Given the description of an element on the screen output the (x, y) to click on. 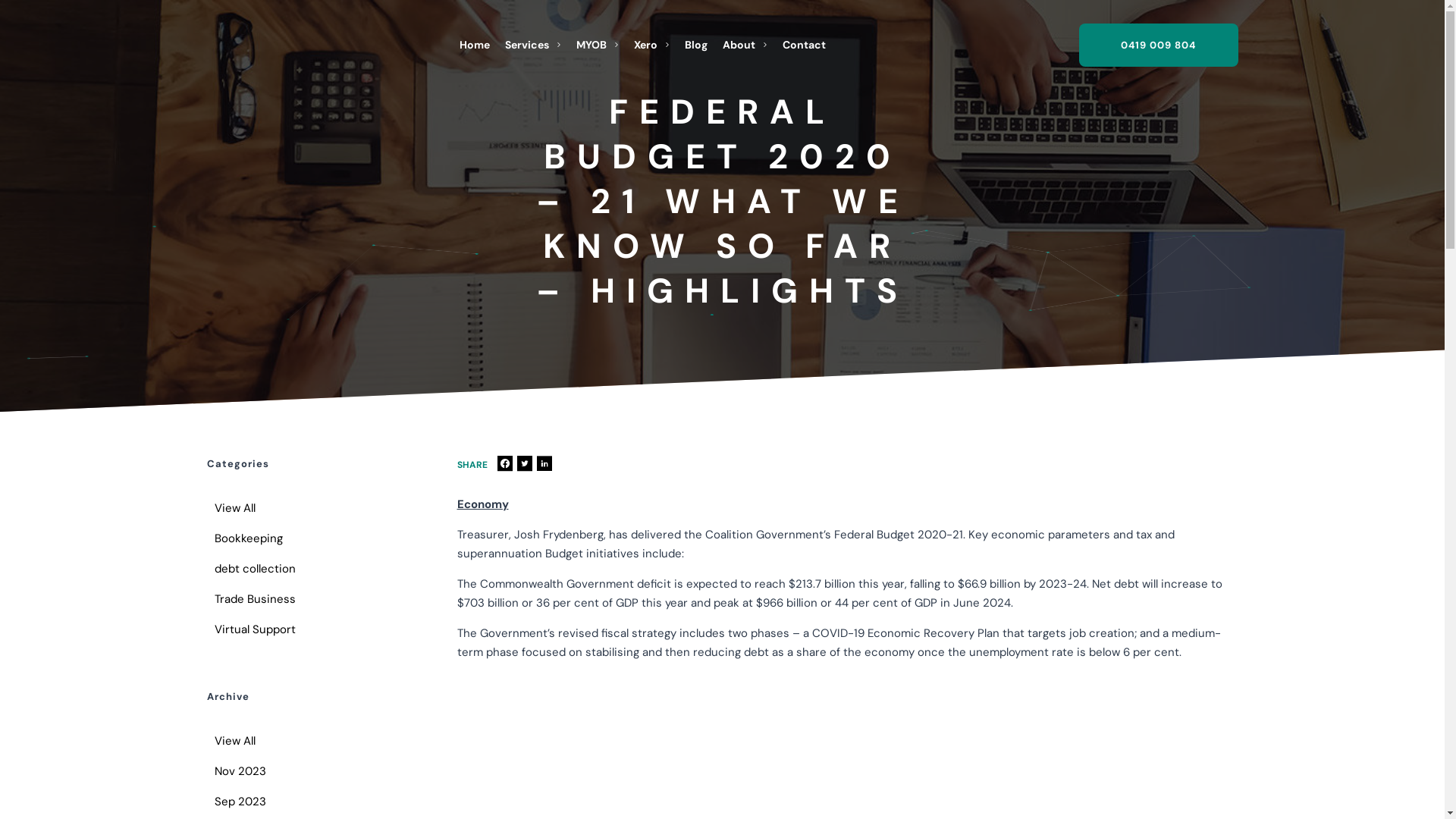
View All Element type: text (312, 507)
MYOB Element type: text (597, 44)
Contact Element type: text (804, 44)
Blog Element type: text (696, 44)
View All Element type: text (312, 740)
Home Element type: text (474, 44)
0419 009 804 Element type: text (1157, 43)
Sep 2023 Element type: text (312, 801)
Services Element type: text (532, 44)
Trade Business Element type: text (312, 598)
Nov 2023 Element type: text (312, 771)
Virtual Support Element type: text (312, 629)
Bookkeeping Element type: text (312, 538)
Xero Element type: text (651, 44)
About Element type: text (745, 44)
debt collection Element type: text (312, 568)
